Given the description of an element on the screen output the (x, y) to click on. 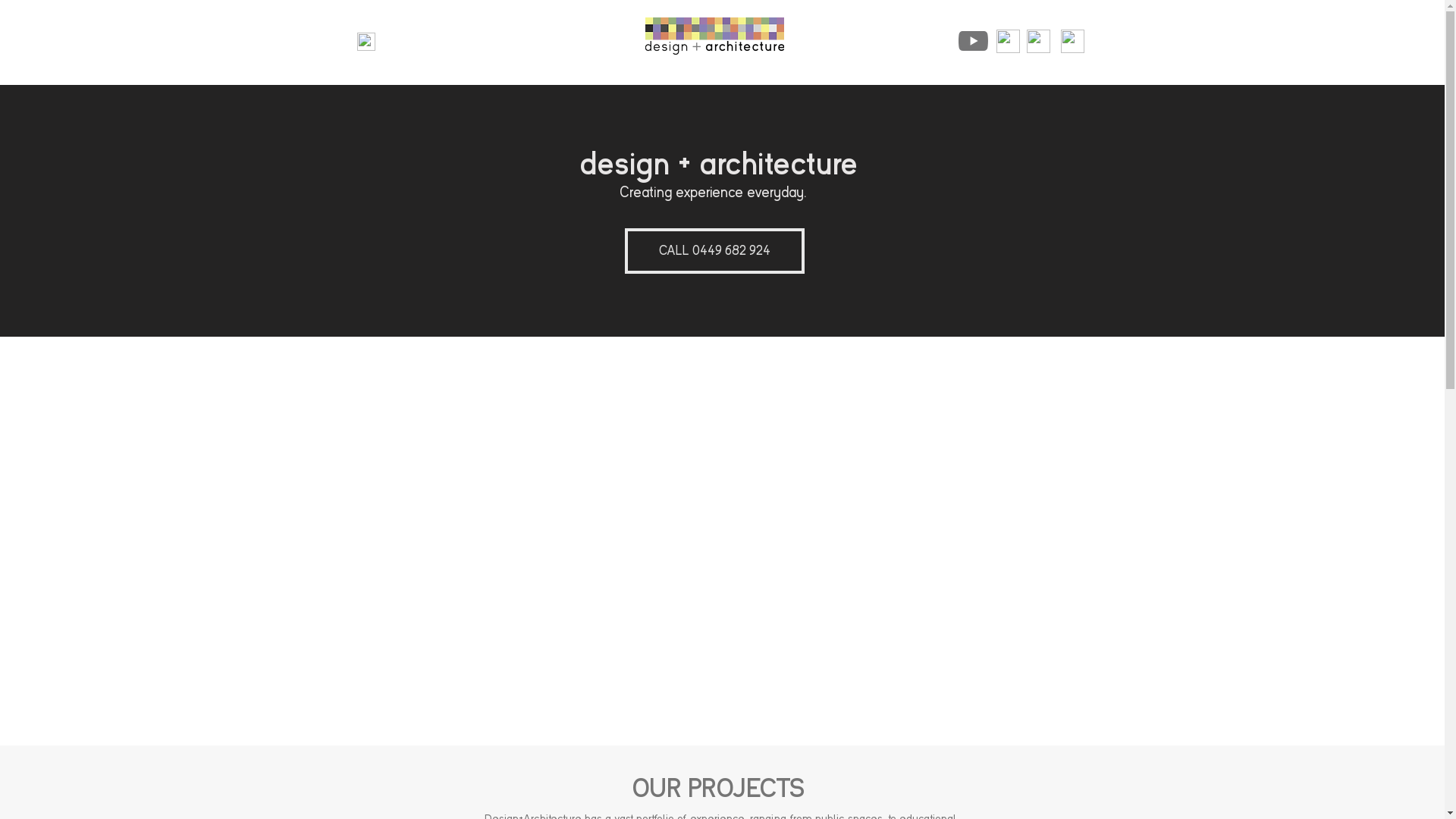
CALL 0449 682 924 Element type: text (714, 250)
